Given the description of an element on the screen output the (x, y) to click on. 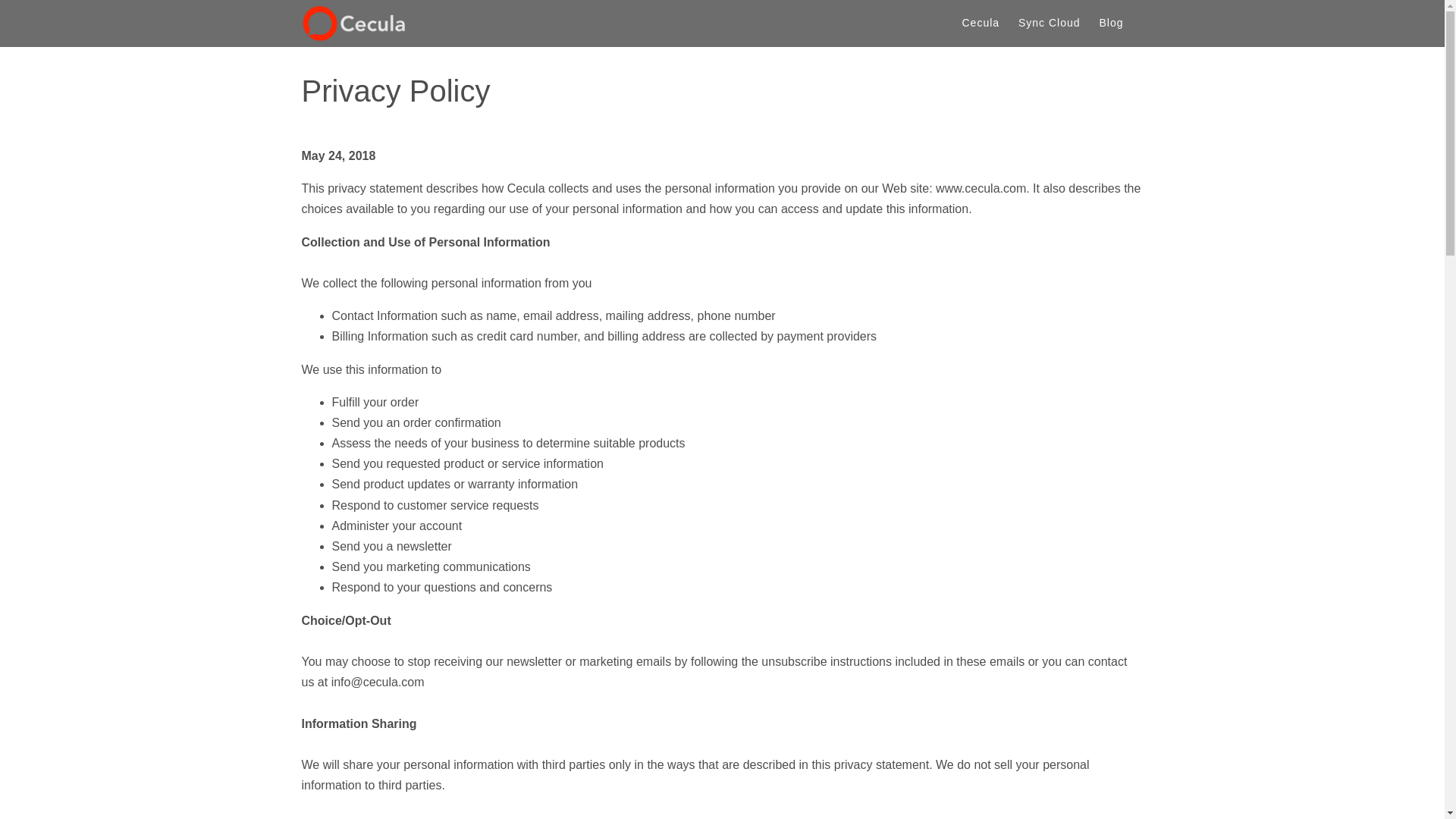
Cecula (981, 22)
Sync Cloud (1050, 22)
Blog (1110, 22)
